Given the description of an element on the screen output the (x, y) to click on. 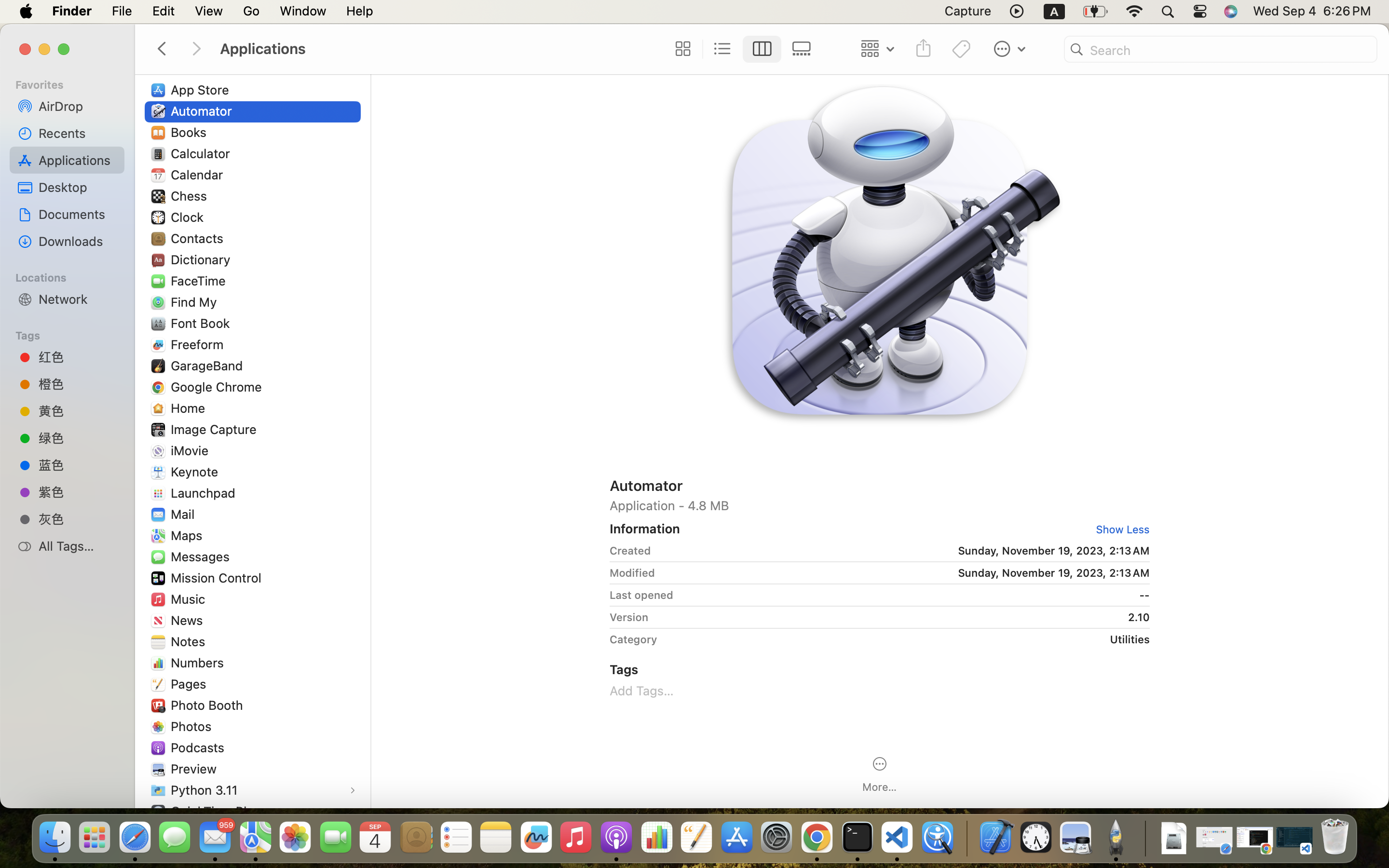
绿色 Element type: AXStaticText (77, 437)
Pages Element type: AXTextField (190, 683)
Mail Element type: AXTextField (184, 513)
FaceTime Element type: AXTextField (200, 280)
Maps Element type: AXTextField (188, 534)
